Given the description of an element on the screen output the (x, y) to click on. 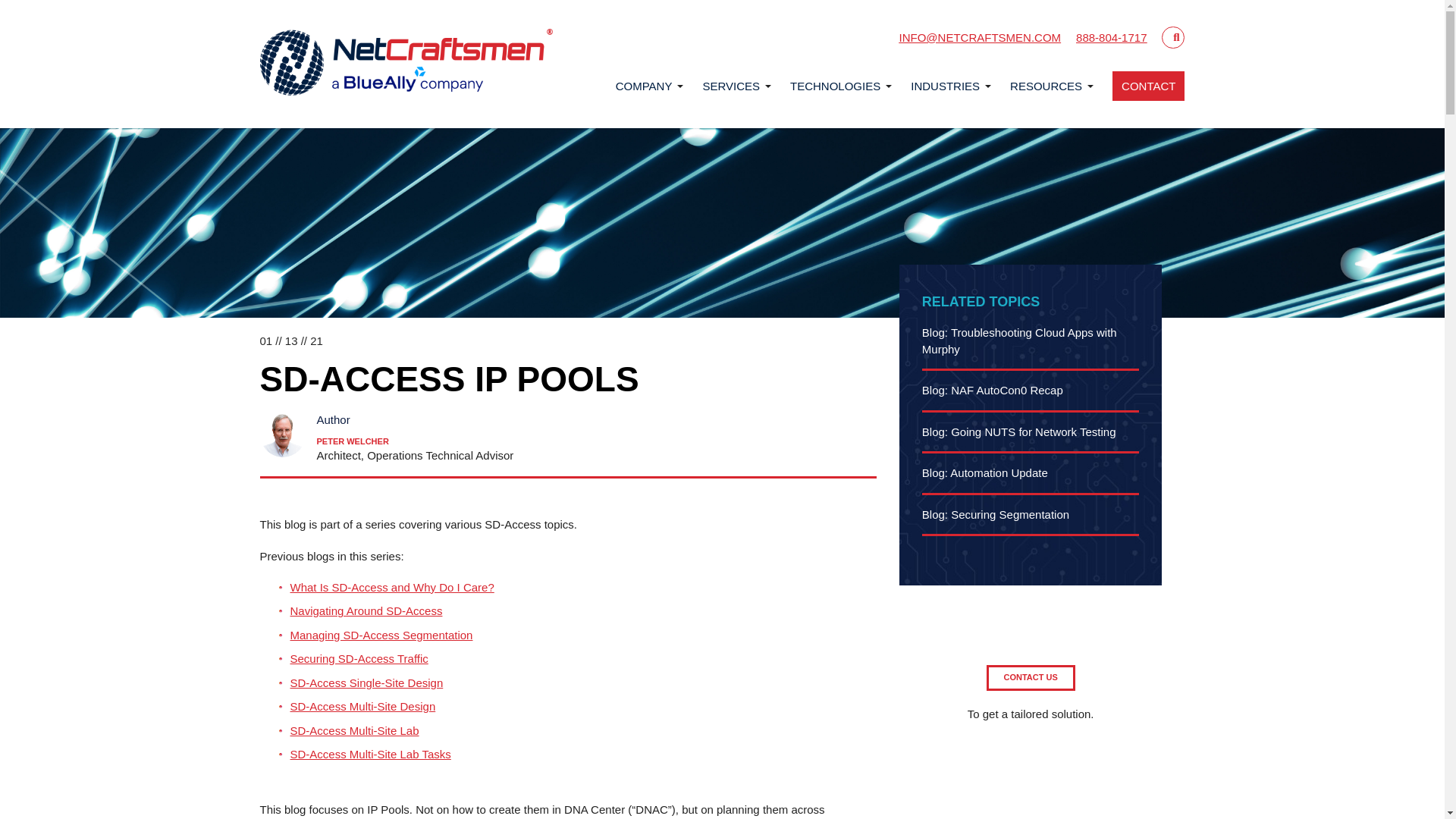
888-804-1717 (1111, 37)
SERVICES (730, 85)
SD-Access Single-Site Design (365, 682)
Managing SD-Access Segmentation (380, 634)
SD-Access Multi-Site Lab (354, 730)
What Is SD-Access and Why Do I Care? (391, 586)
COMPANY (643, 85)
Navigating Around SD-Access (365, 610)
NetCraftsmen, a BlueAlly Company (406, 63)
TECHNOLOGIES (835, 85)
